Given the description of an element on the screen output the (x, y) to click on. 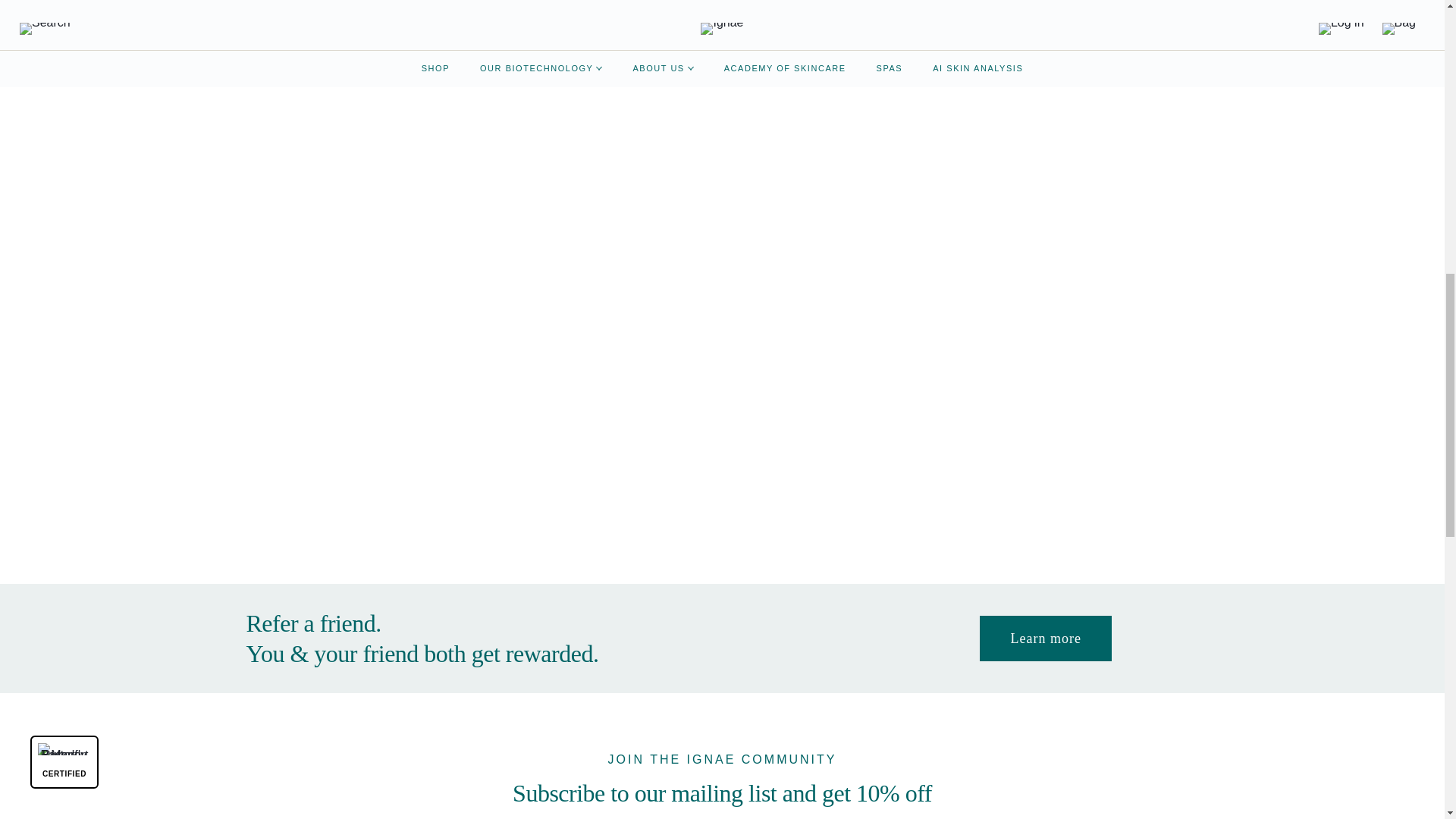
DISCOVER ALL ELEMENTS (722, 525)
